Given the description of an element on the screen output the (x, y) to click on. 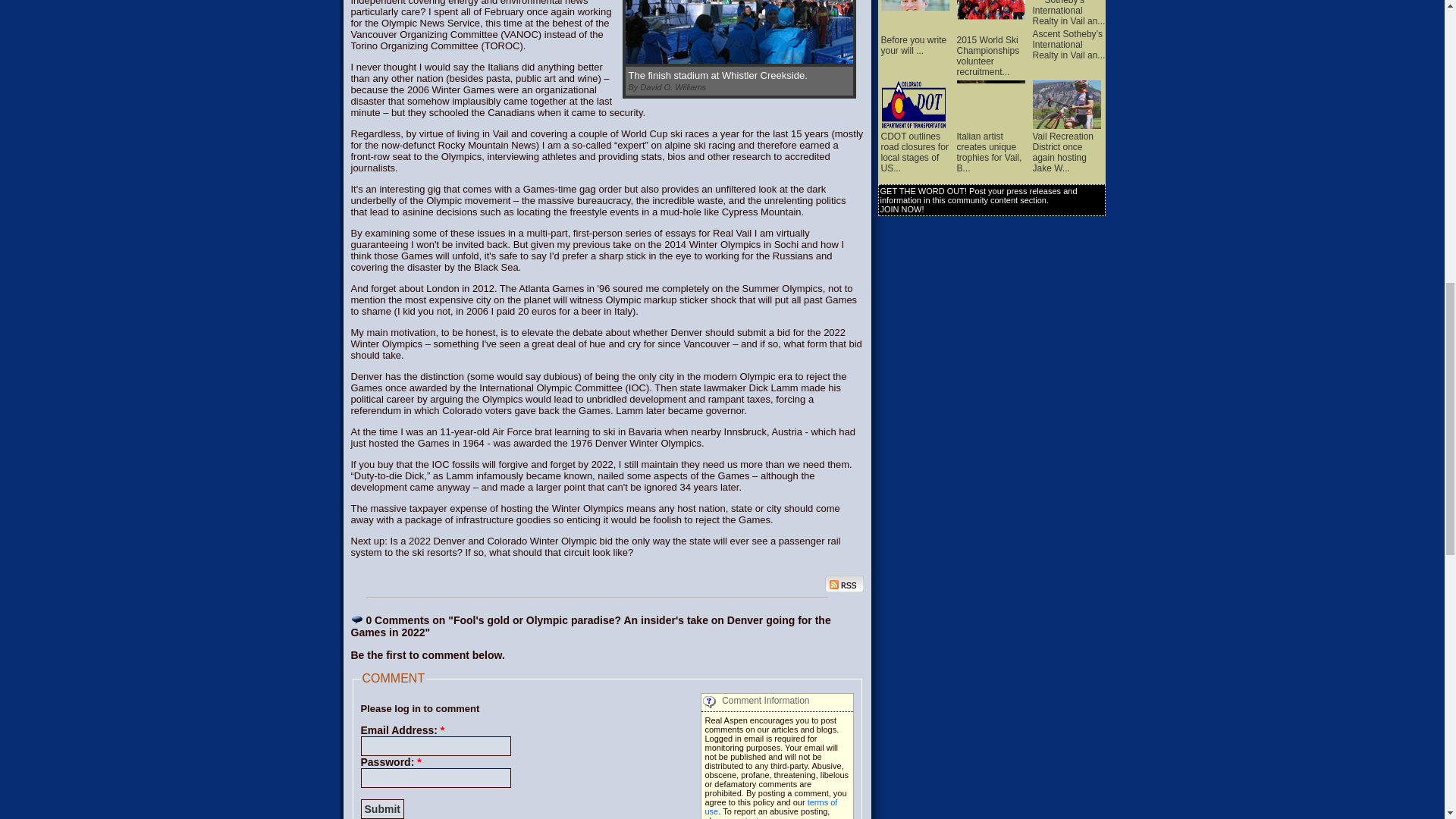
Submit (382, 809)
contact us (751, 817)
RealAspen News and Community Content Feed (844, 583)
terms of use (771, 806)
Submit (382, 809)
